Given the description of an element on the screen output the (x, y) to click on. 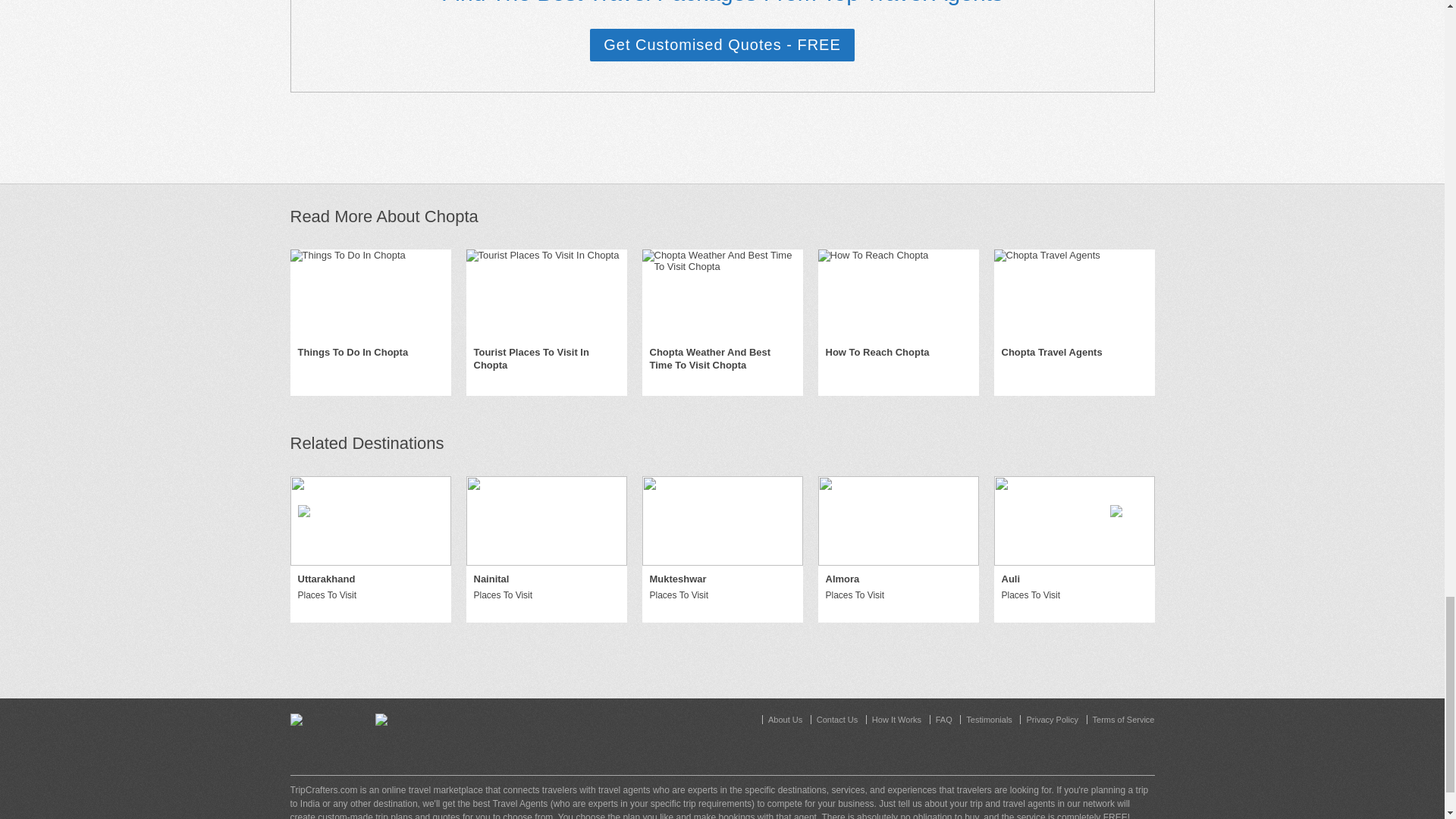
Tourist Places To Visit In Chopta (545, 359)
Get Customised Quotes - FREE (721, 44)
How To Reach Chopta (876, 352)
Chopta Weather And Best Time To Visit Chopta (721, 359)
Things To Do In Chopta (352, 352)
